Given the description of an element on the screen output the (x, y) to click on. 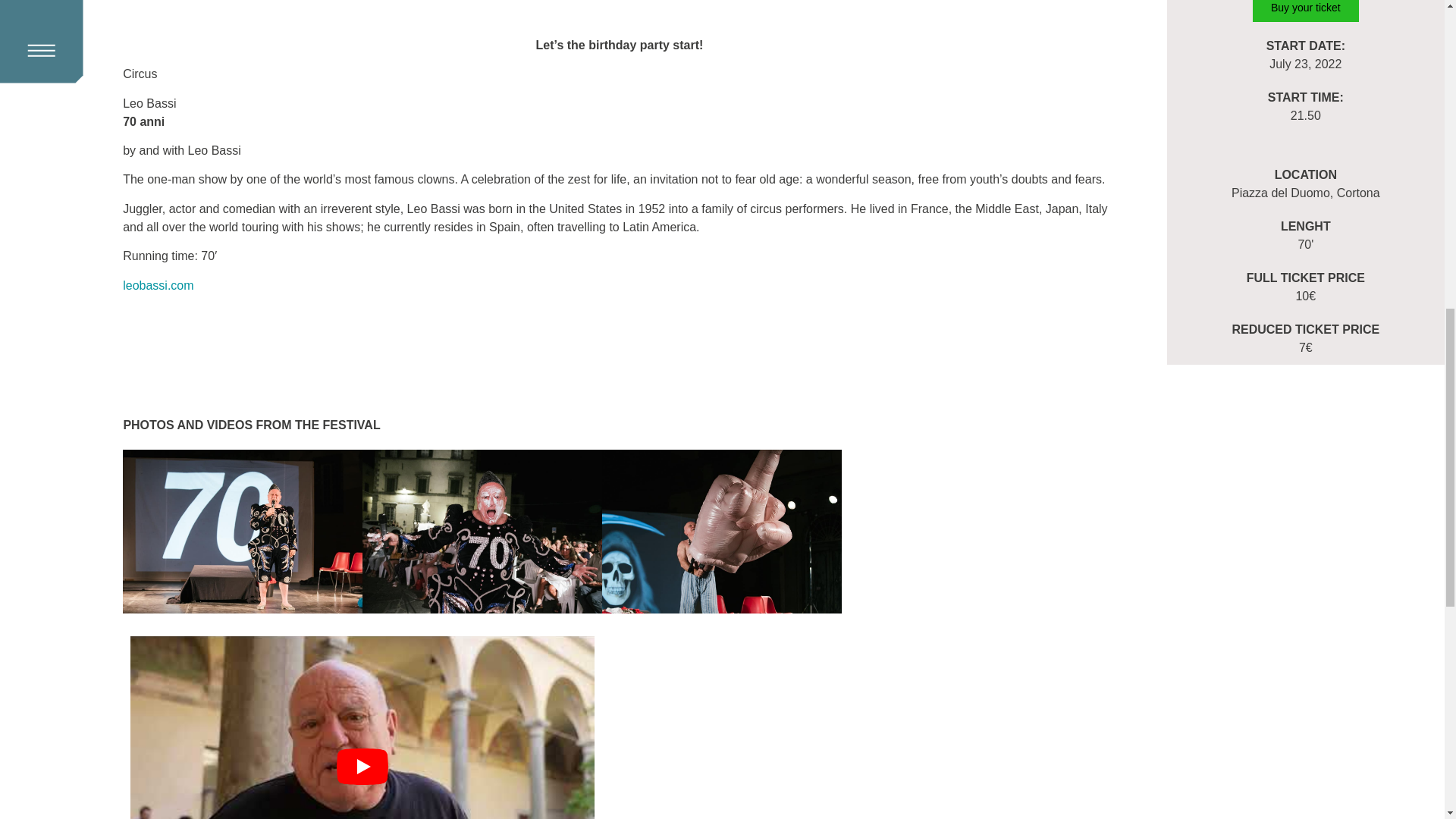
Page 28 (619, 45)
